Given the description of an element on the screen output the (x, y) to click on. 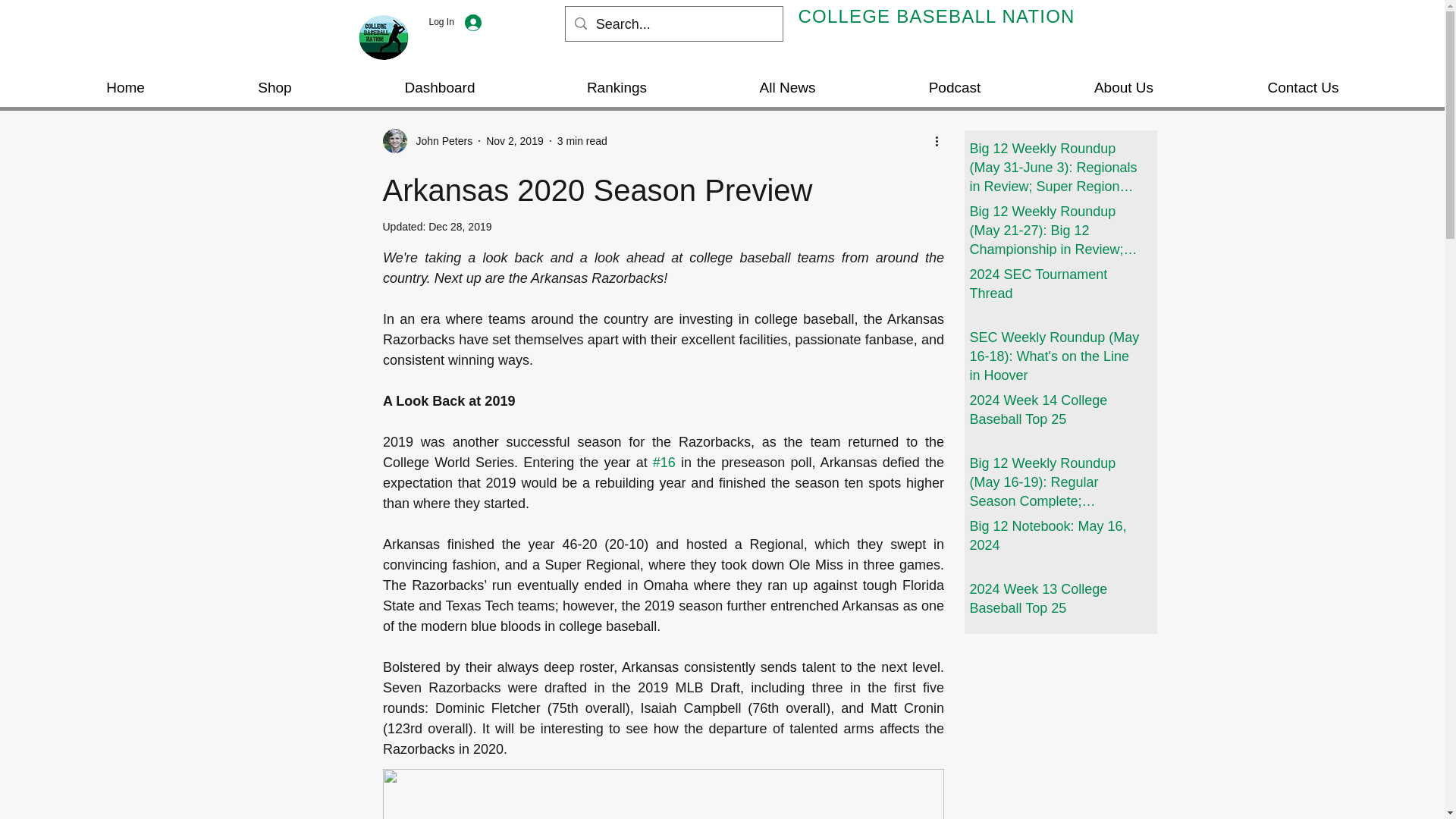
Podcast (954, 87)
Home (125, 87)
Contact Us (1302, 87)
Nov 2, 2019 (514, 141)
Dec 28, 2019 (460, 226)
2024 SEC Tournament Thread (1054, 287)
John Peters (438, 141)
Rankings (616, 87)
All News (786, 87)
Shop (274, 87)
